Given the description of an element on the screen output the (x, y) to click on. 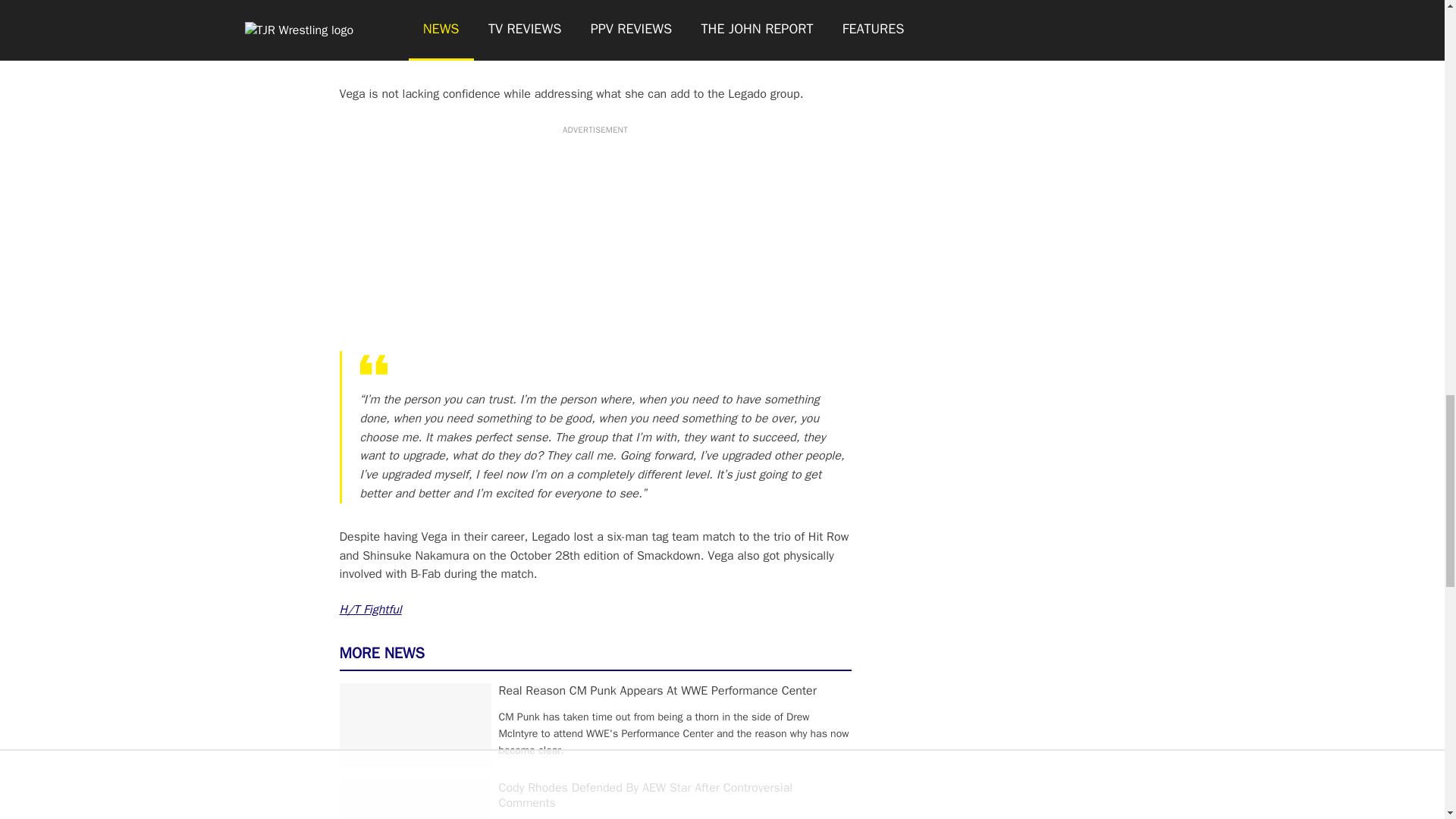
Real Reason CM Punk Appears At WWE Performance Center (657, 690)
